Given the description of an element on the screen output the (x, y) to click on. 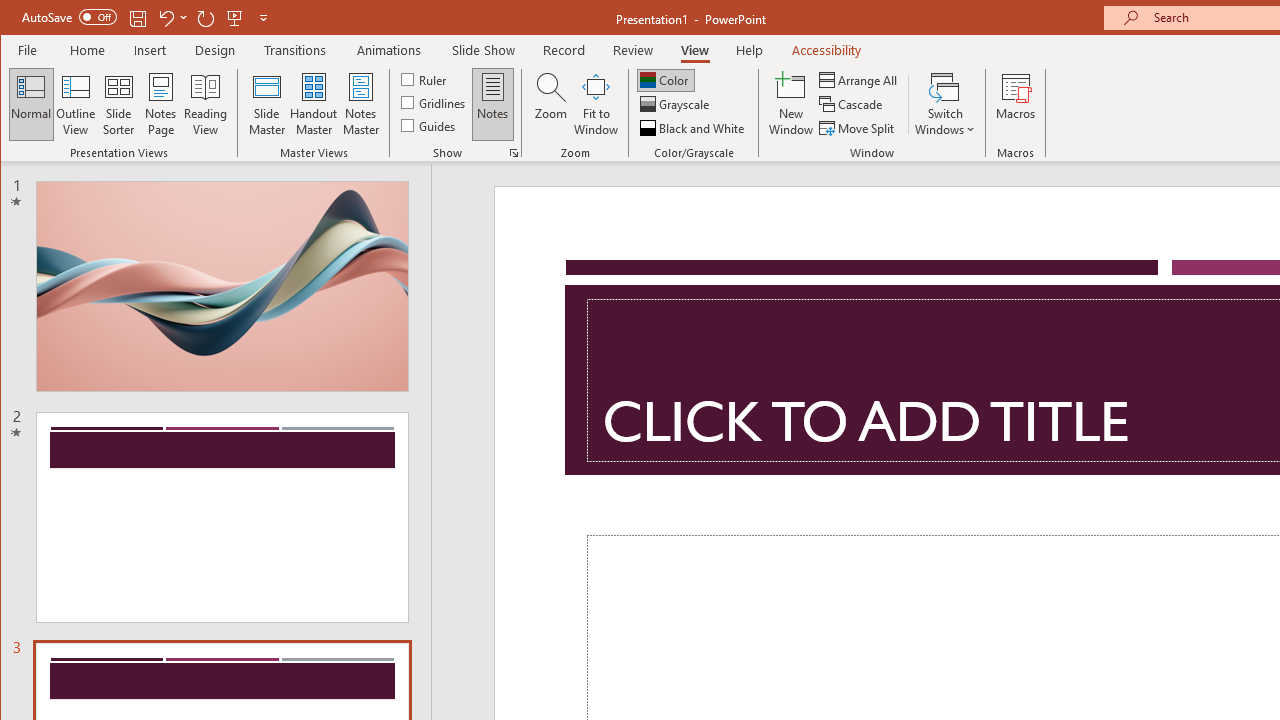
Notes Master (360, 104)
Ruler (425, 78)
Grid Settings... (513, 152)
Cascade (852, 103)
Guides (430, 124)
